Given the description of an element on the screen output the (x, y) to click on. 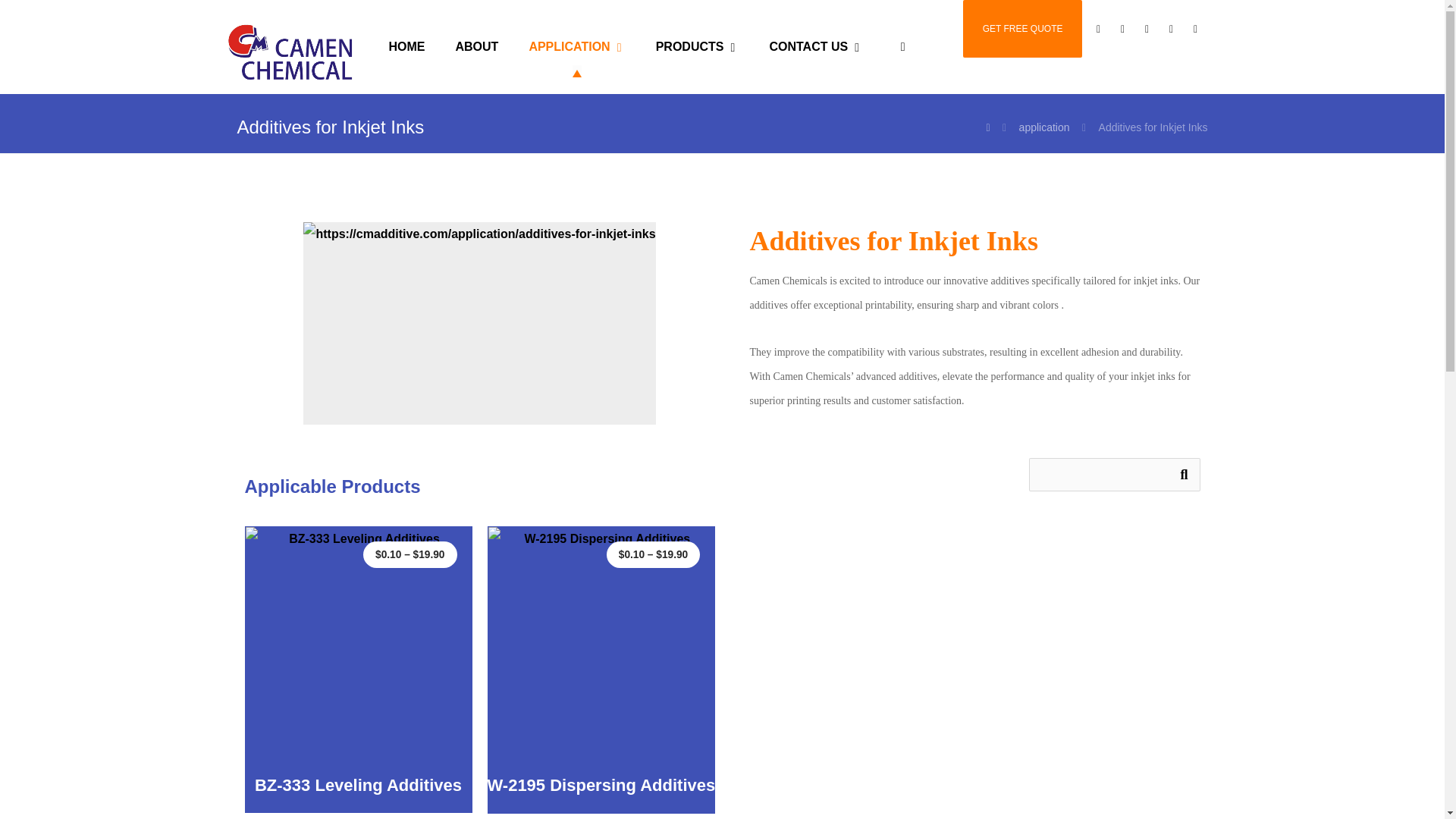
Facebook (1122, 28)
ABOUT (477, 46)
Whatsapp (1146, 28)
HOME (406, 46)
CONTACT US (816, 46)
YouTube (1195, 28)
cart (1097, 28)
Linkedin (1170, 28)
APPLICATION (576, 46)
PRODUCTS (698, 46)
